Given the description of an element on the screen output the (x, y) to click on. 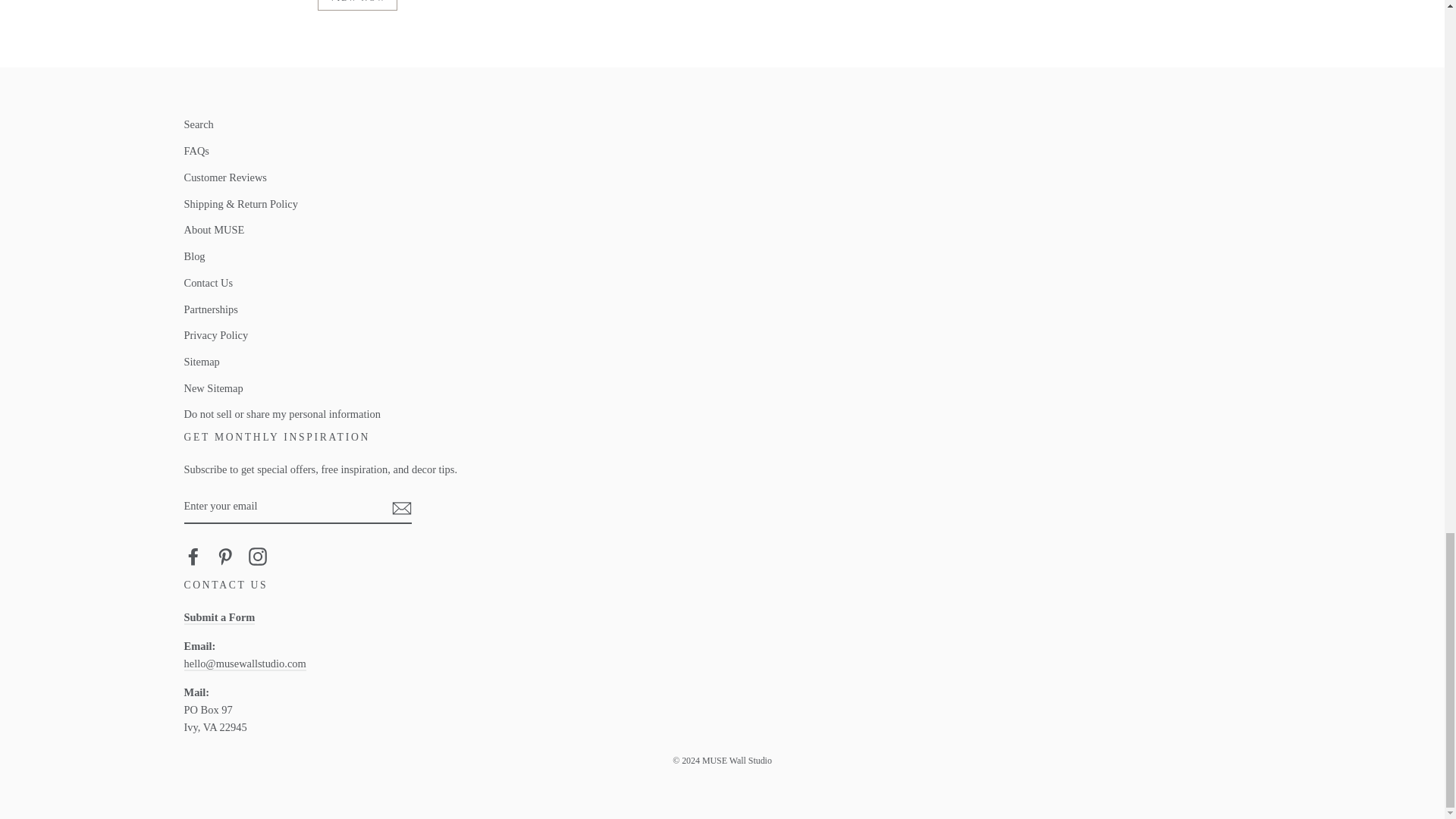
Contact Us (218, 617)
MUSE Wall Studio on Pinterest (224, 556)
MUSE Wall Studio on Facebook (192, 556)
MUSE Wall Studio on Instagram (257, 556)
